Given the description of an element on the screen output the (x, y) to click on. 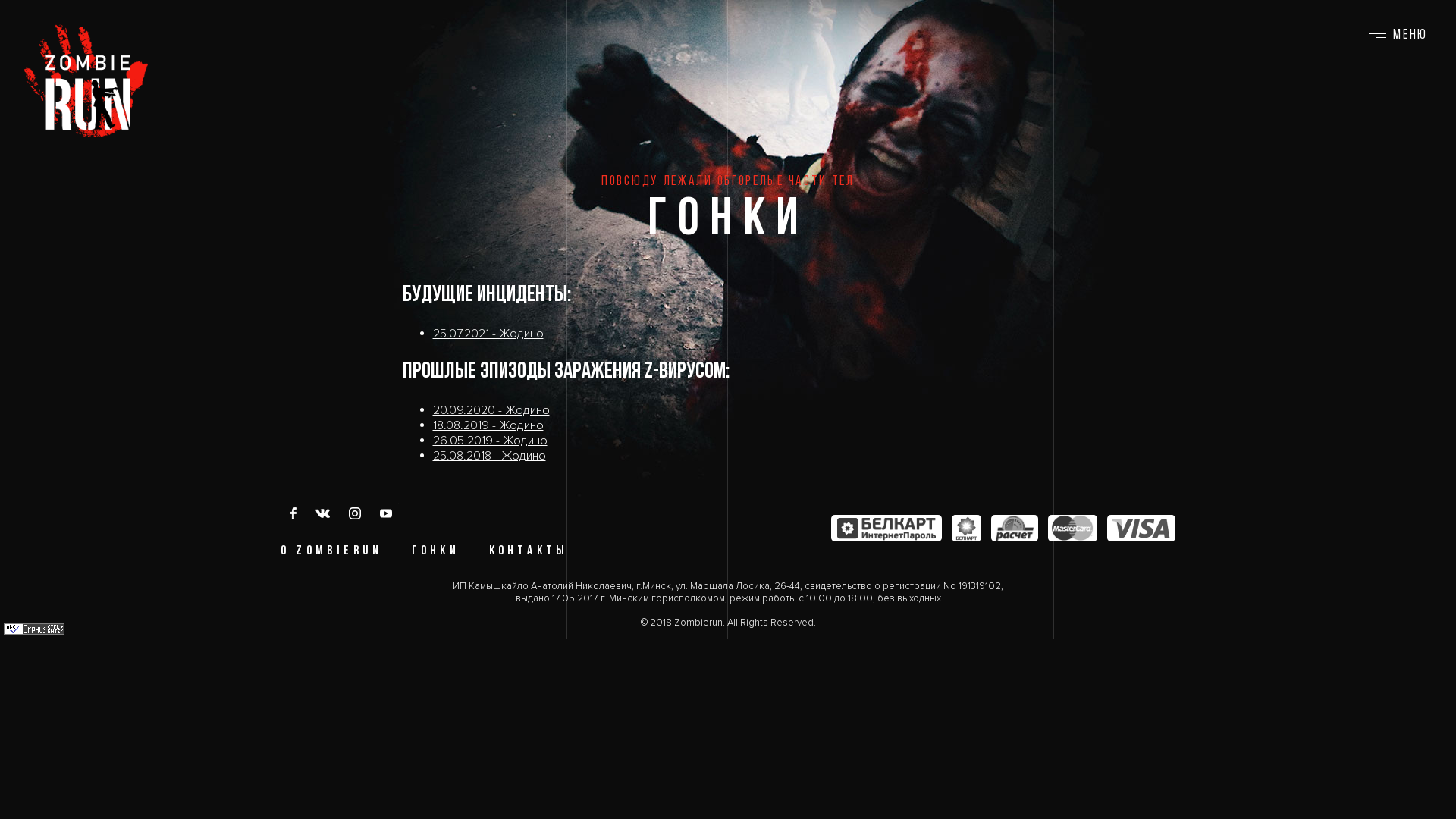
YouTube Element type: text (384, 513)
ZOMBIE RUN Element type: text (85, 80)
Orphus Element type: hover (33, 630)
Instagram Element type: text (354, 513)
Facebook Element type: text (293, 513)
vk Element type: text (324, 513)
